Given the description of an element on the screen output the (x, y) to click on. 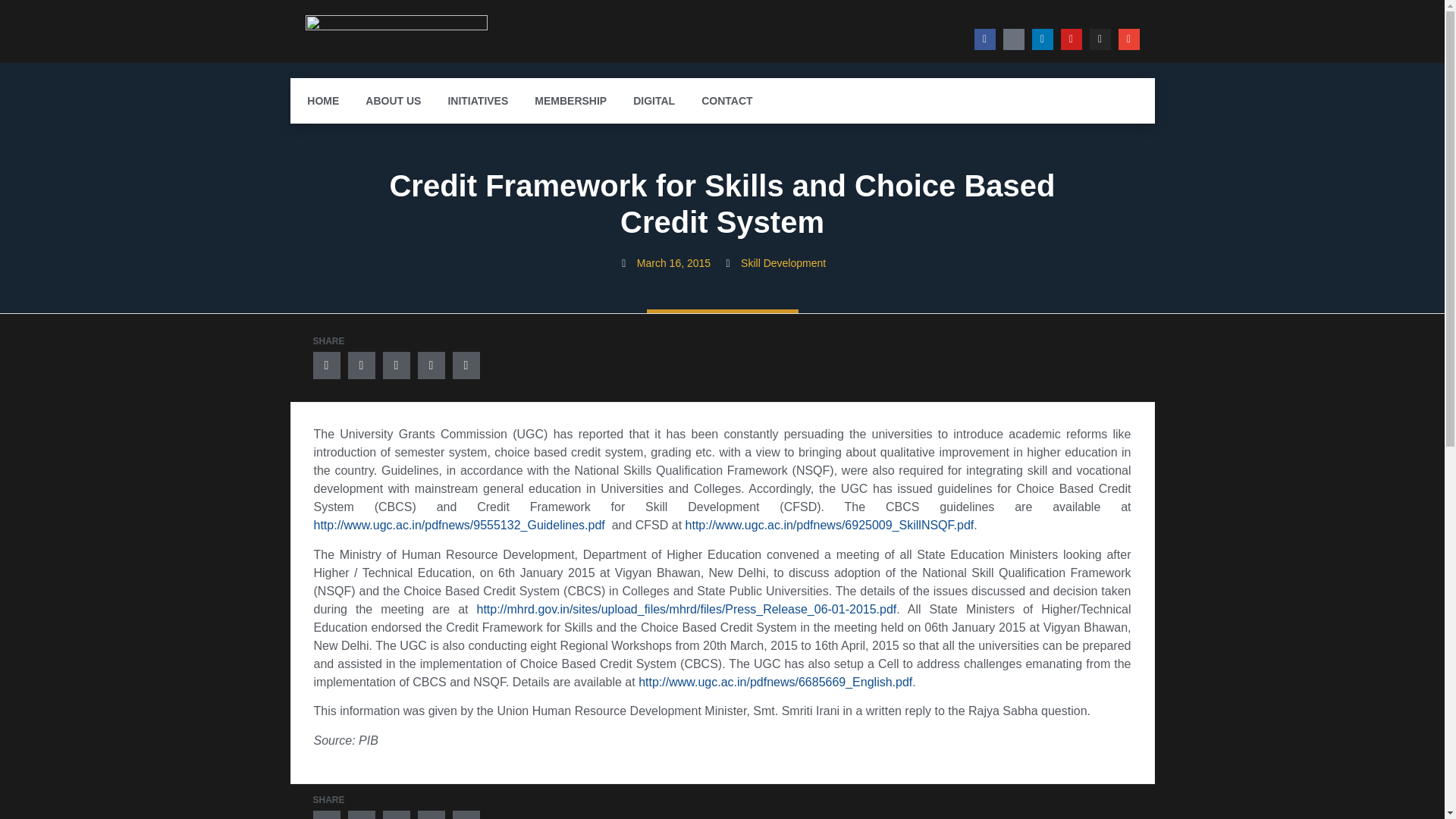
DIGITAL (654, 100)
INITIATIVES (477, 100)
ABOUT US (392, 100)
MEMBERSHIP (570, 100)
CONTACT (726, 100)
